Given the description of an element on the screen output the (x, y) to click on. 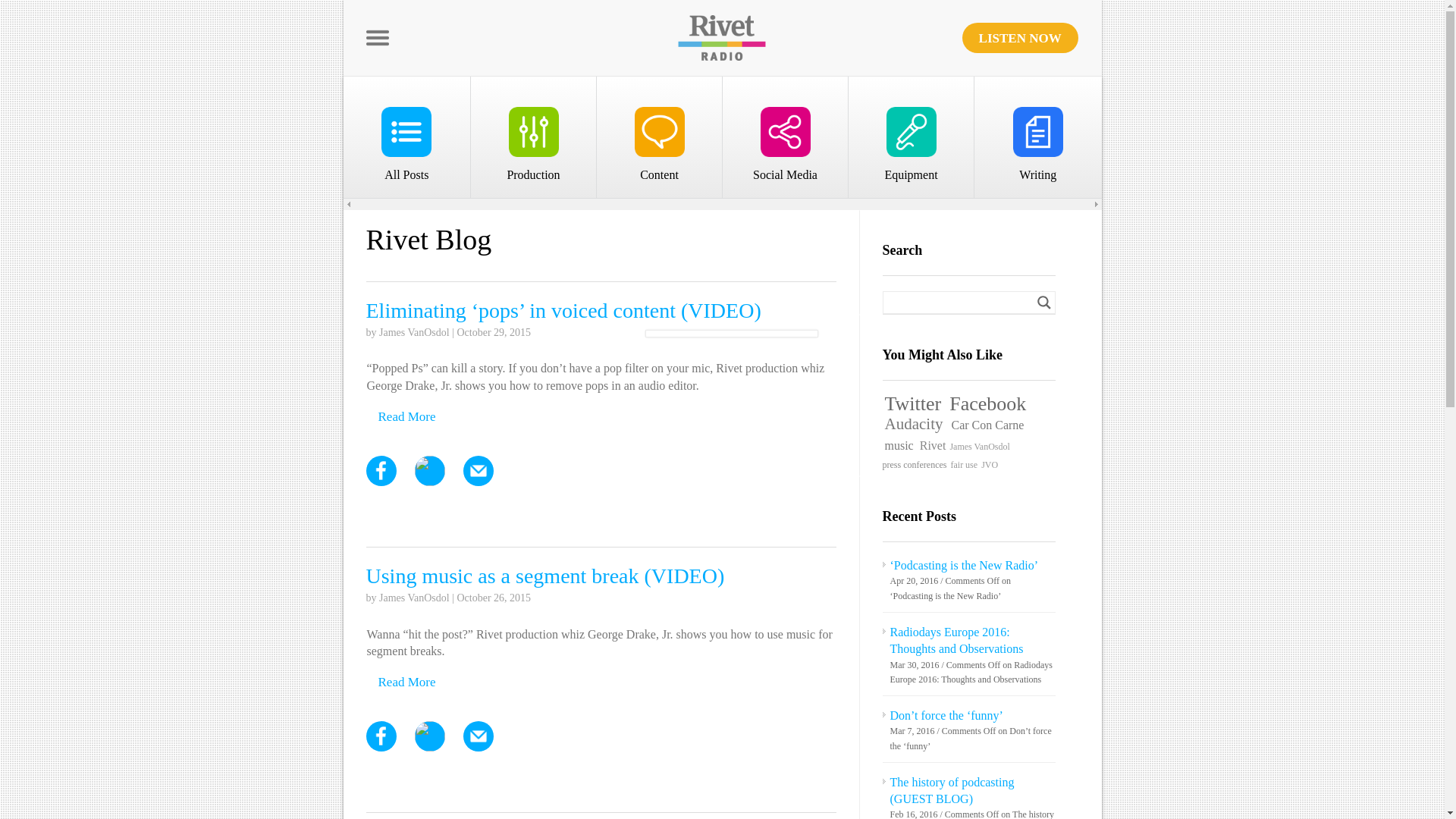
Radiodays Europe 2016: Thoughts and Observations (956, 640)
Read More (406, 681)
Home (405, 56)
Read More (406, 416)
Writing (1038, 137)
Production (532, 137)
Audacity (913, 424)
LISTEN NOW (1020, 37)
Rivet Business (531, 56)
Equipment (910, 137)
All Posts (406, 137)
Twitter (912, 403)
Rivet Distribution (879, 56)
Rivet News (1037, 56)
Content (658, 137)
